Given the description of an element on the screen output the (x, y) to click on. 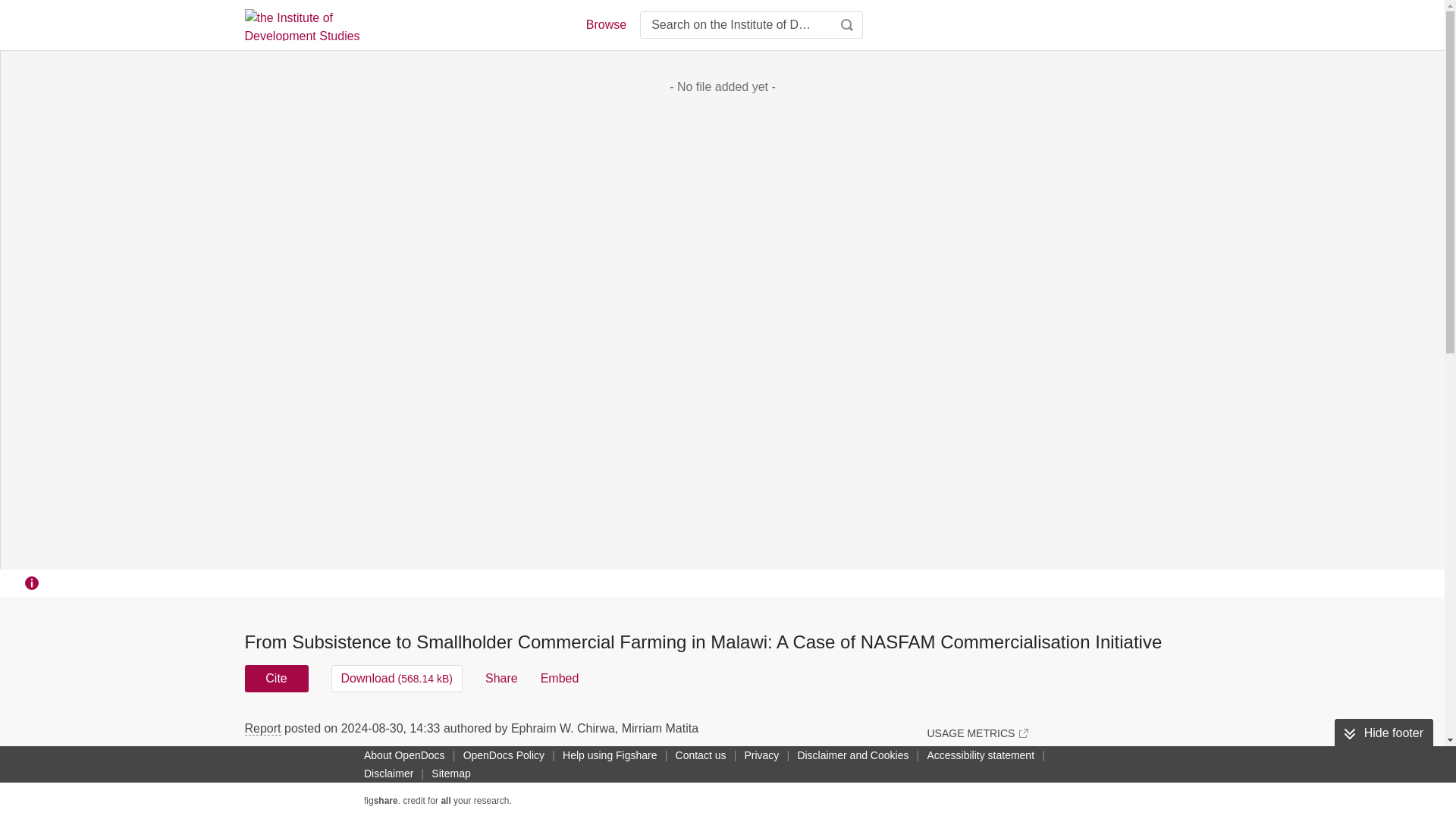
USAGE METRICS (976, 732)
Embed (559, 678)
About OpenDocs (404, 755)
Cite (275, 678)
OpenDocs Policy (503, 755)
Share (501, 678)
Contact us (700, 755)
Privacy (761, 755)
Sitemap (450, 773)
Hide footer (1383, 733)
